Given the description of an element on the screen output the (x, y) to click on. 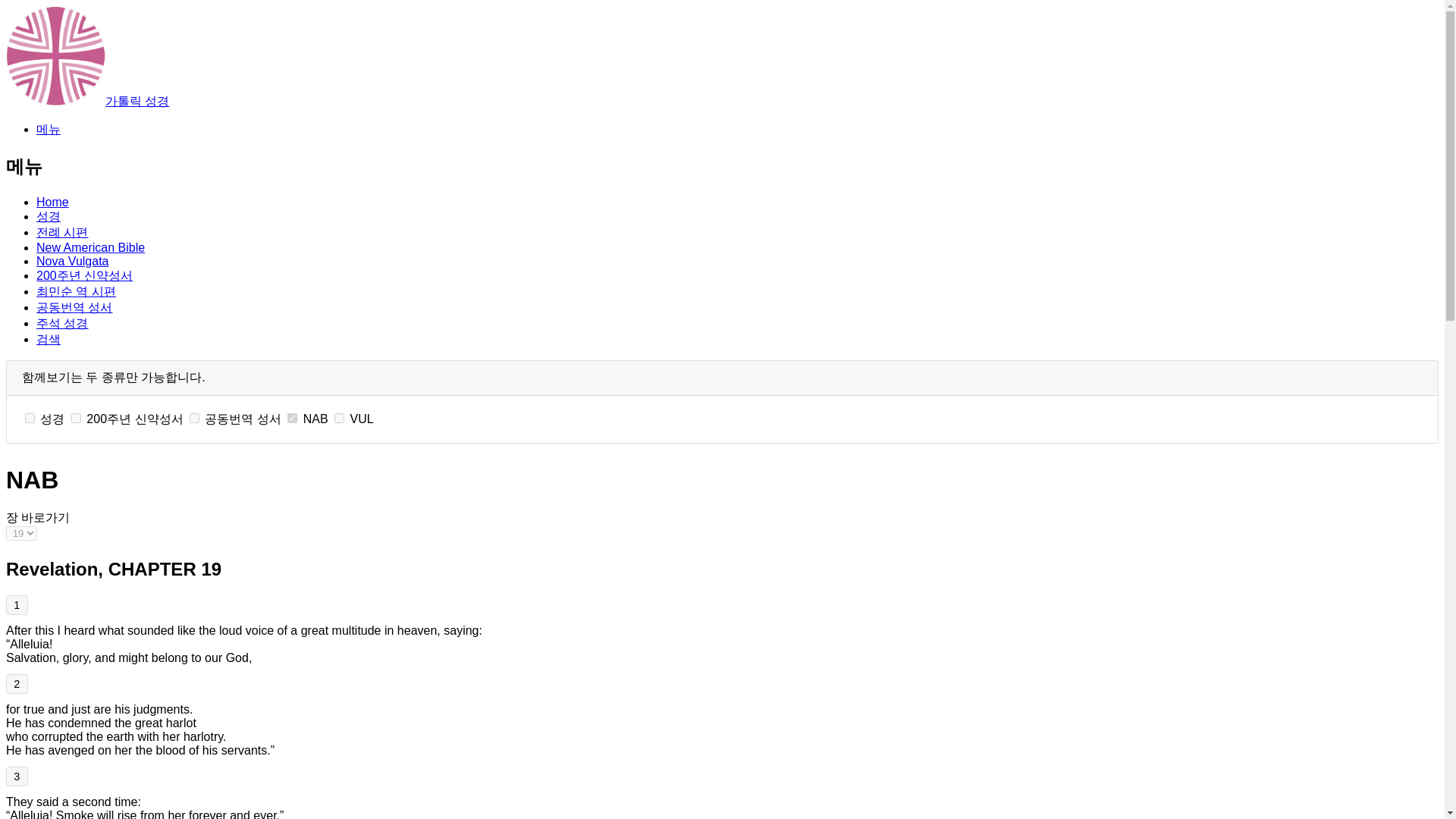
on (76, 418)
on (194, 418)
Nova Vulgata (71, 260)
New American Bible (90, 246)
on (291, 418)
Home (52, 201)
on (29, 418)
on (338, 418)
